Given the description of an element on the screen output the (x, y) to click on. 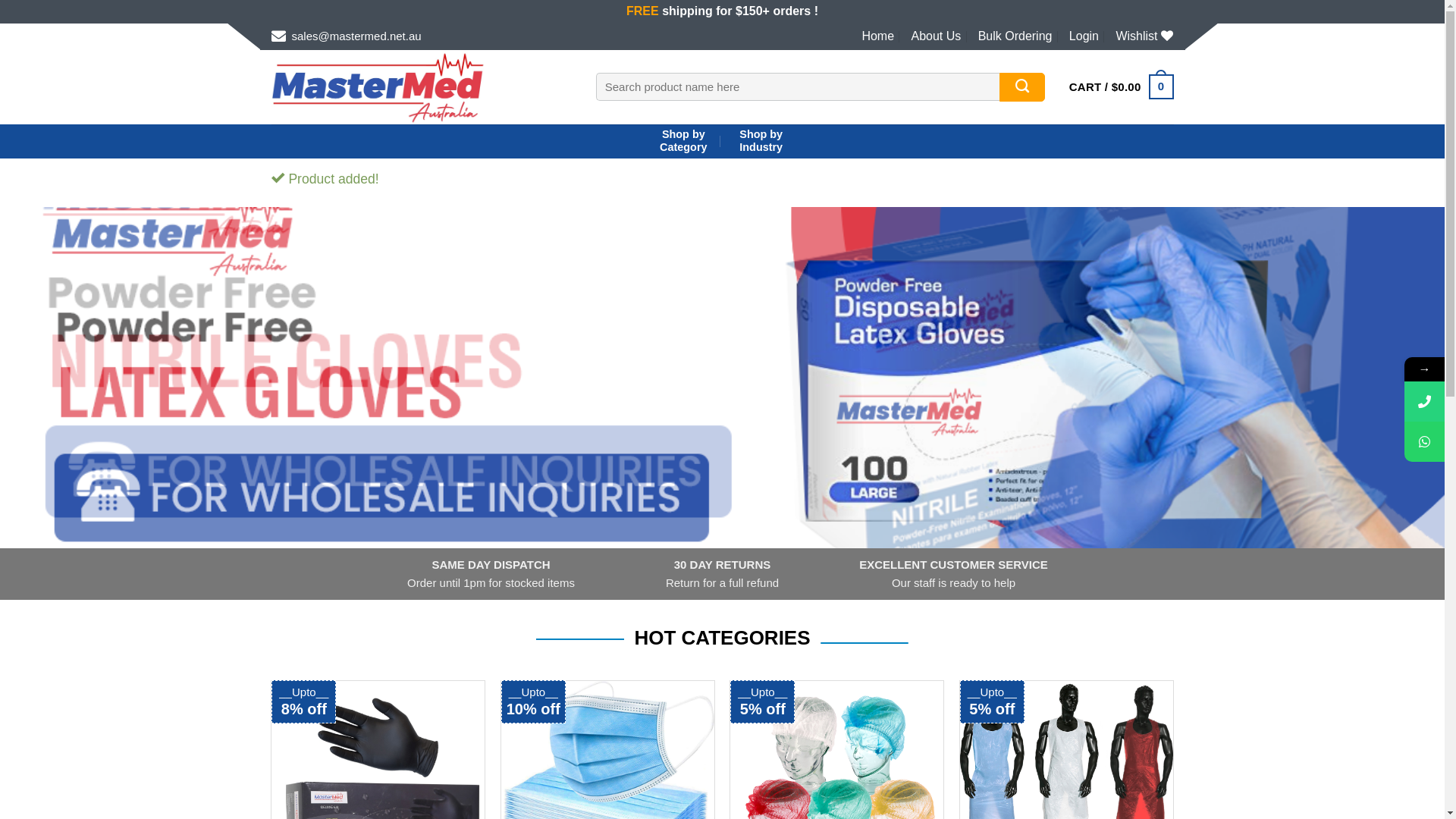
Shop by Category Element type: text (682, 140)
Login Element type: text (1083, 36)
Wishlist Element type: text (1144, 36)
Bulk Ordering Element type: text (1015, 36)
Shop by Industry Element type: text (761, 140)
sales@mastermed.net.au Element type: text (346, 36)
Health & Medical Australia Element type: hover (422, 87)
CART / $0.00
0 Element type: text (1121, 86)
About Us Element type: text (935, 36)
Skip to content Element type: text (0, 22)
Home Element type: text (877, 36)
